Given the description of an element on the screen output the (x, y) to click on. 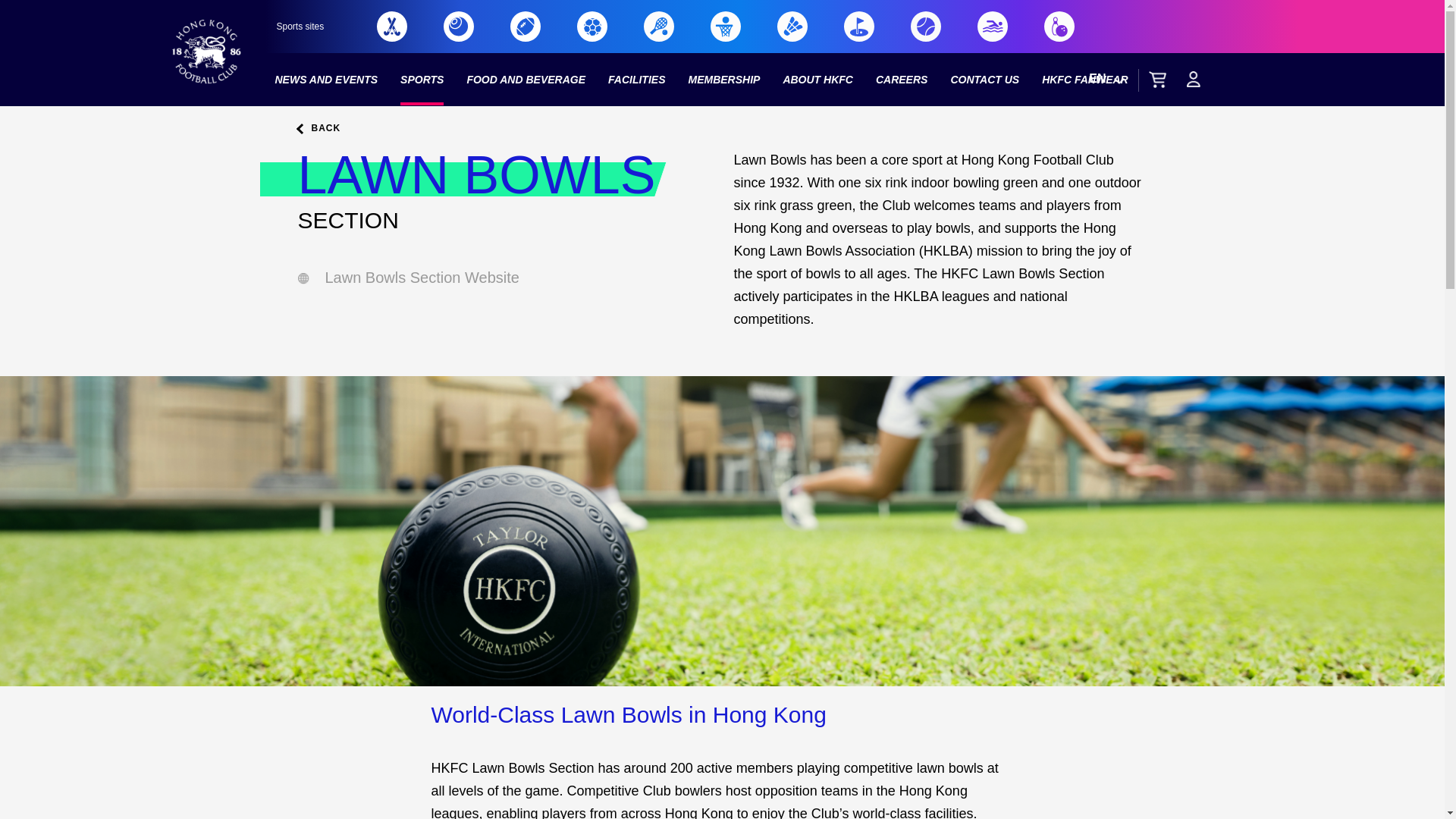
SPORTS (422, 79)
NEWS AND EVENTS (326, 79)
